Given the description of an element on the screen output the (x, y) to click on. 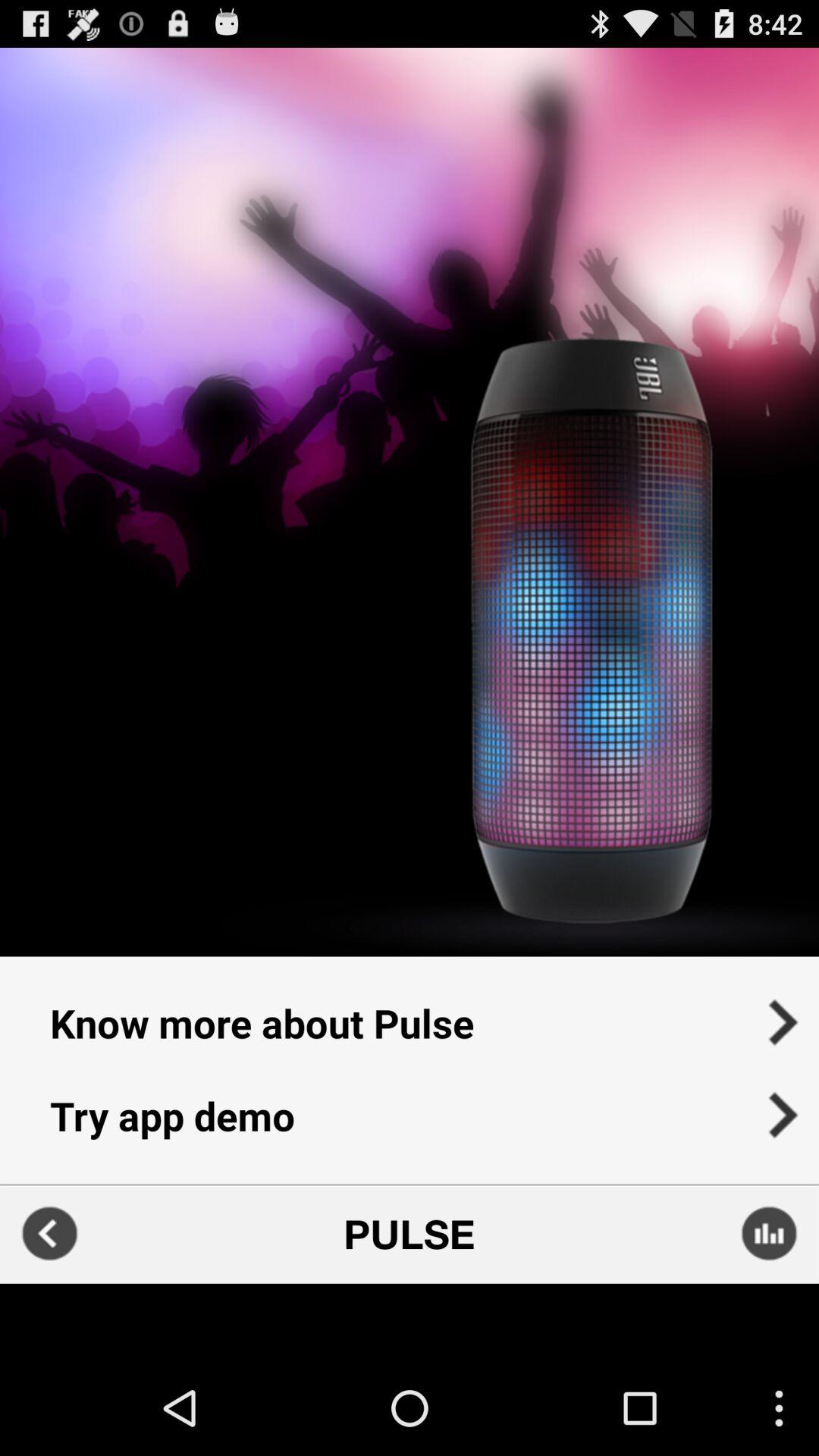
select the know more about item (409, 1012)
